Given the description of an element on the screen output the (x, y) to click on. 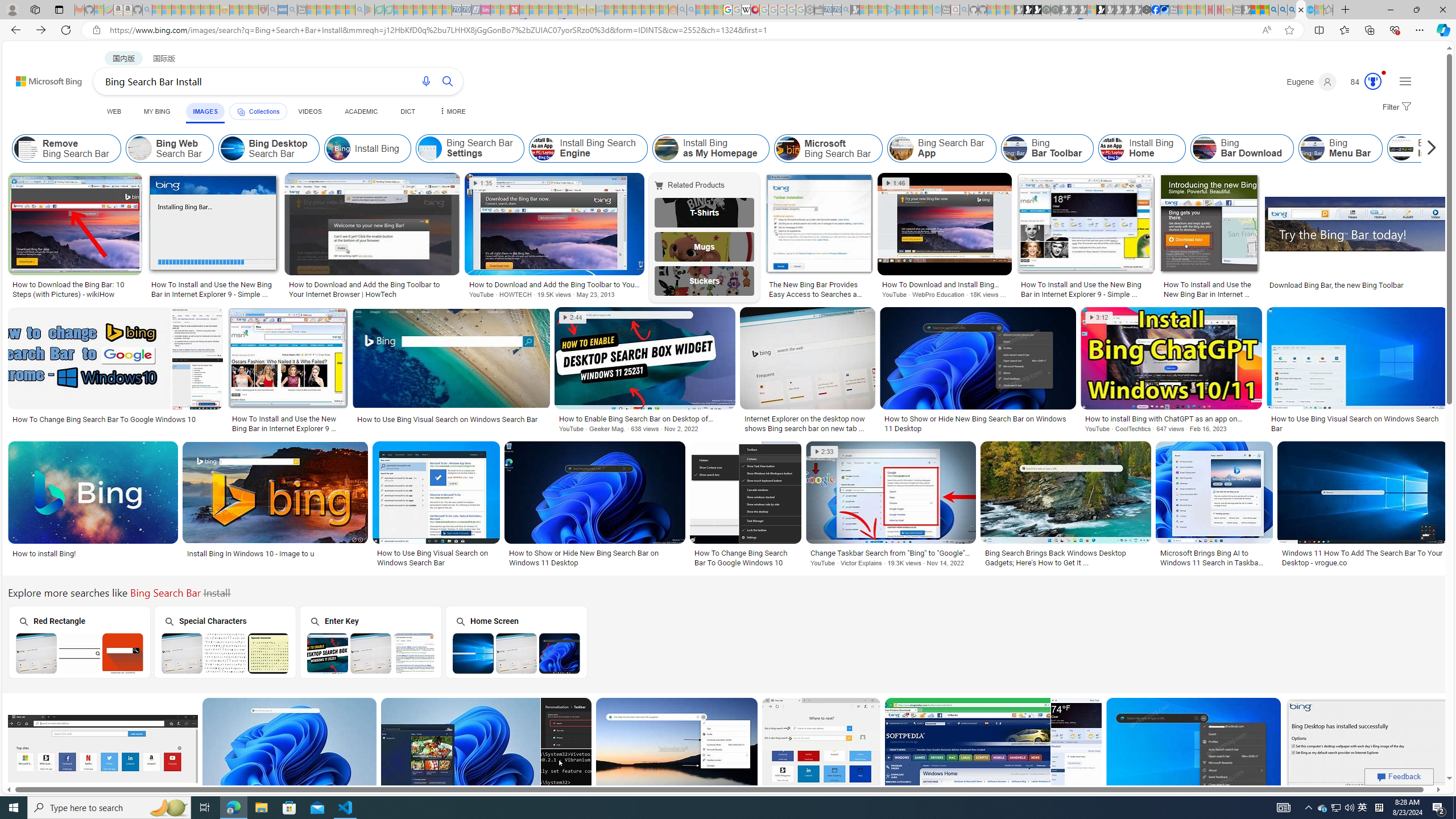
Bing Search Bar Enter Key Enter Key (370, 642)
